Given the description of an element on the screen output the (x, y) to click on. 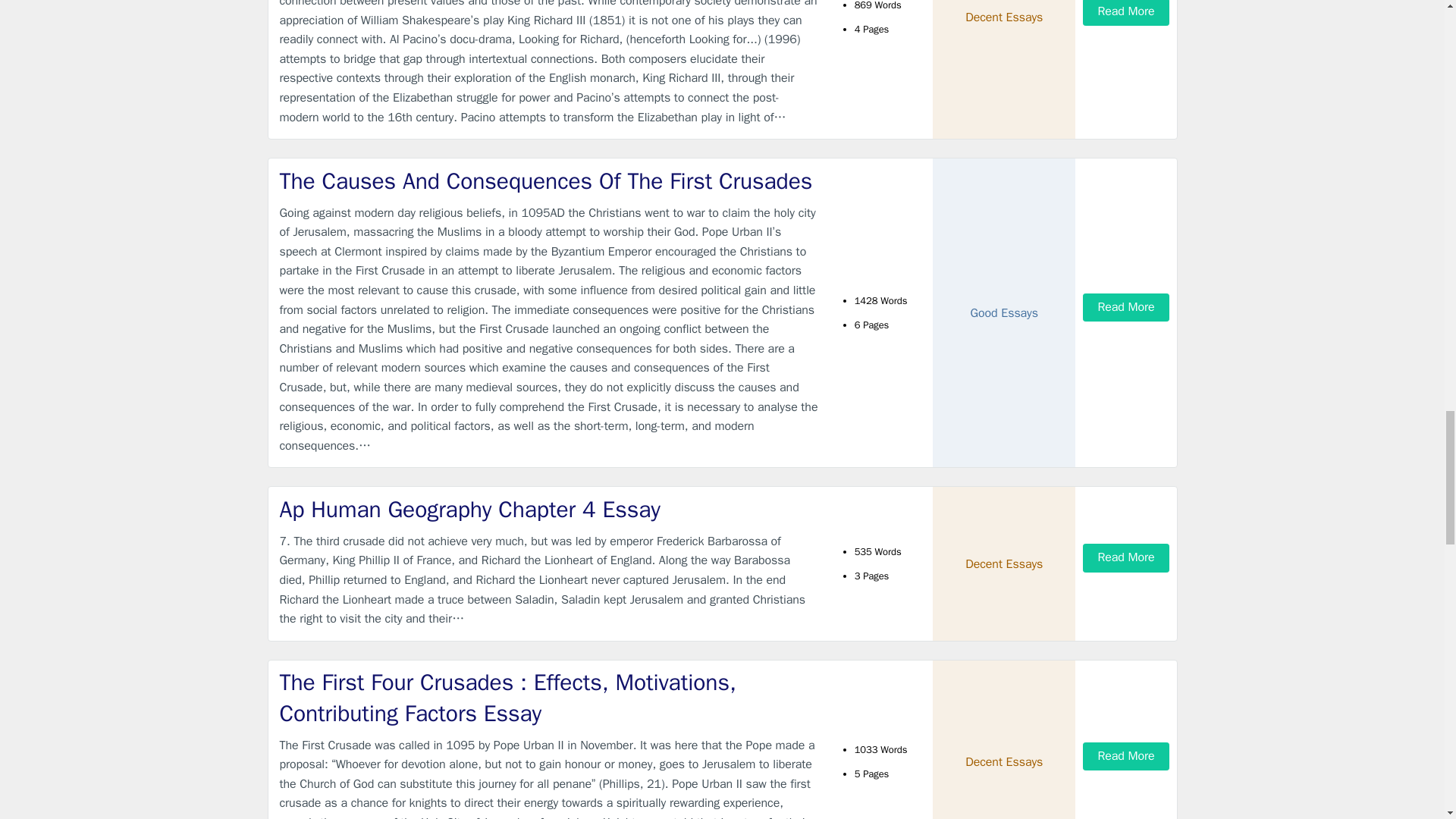
The Causes And Consequences Of The First Crusades (548, 181)
Read More (1126, 12)
